Given the description of an element on the screen output the (x, y) to click on. 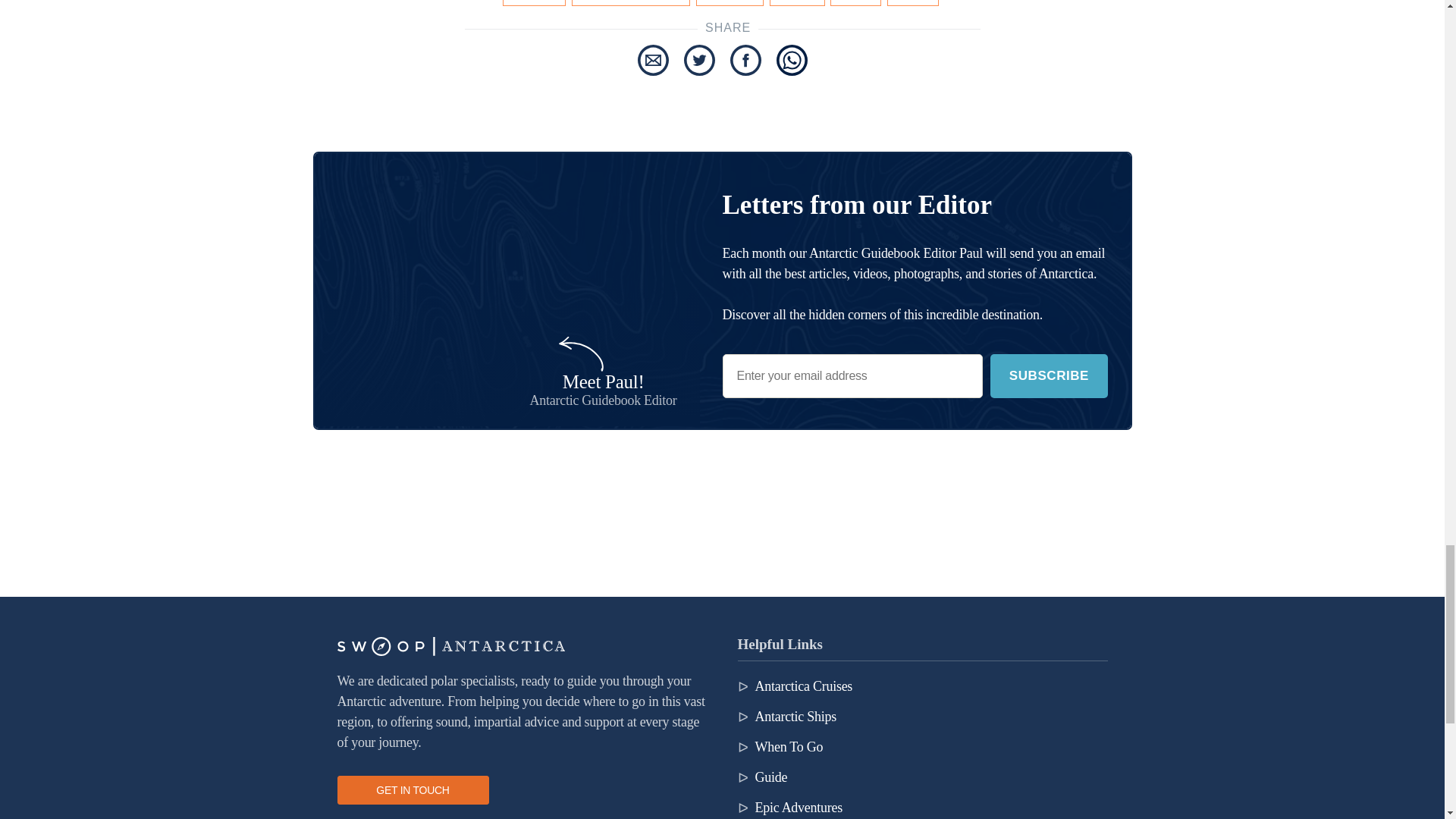
Share on Facebook (745, 60)
Basecamp Adventure (631, 3)
Oceanwide (728, 3)
Share on whatsapp (791, 60)
antarctica (534, 3)
Share on Twitter (699, 60)
Share via Email (651, 60)
Subscribe (1048, 375)
